Given the description of an element on the screen output the (x, y) to click on. 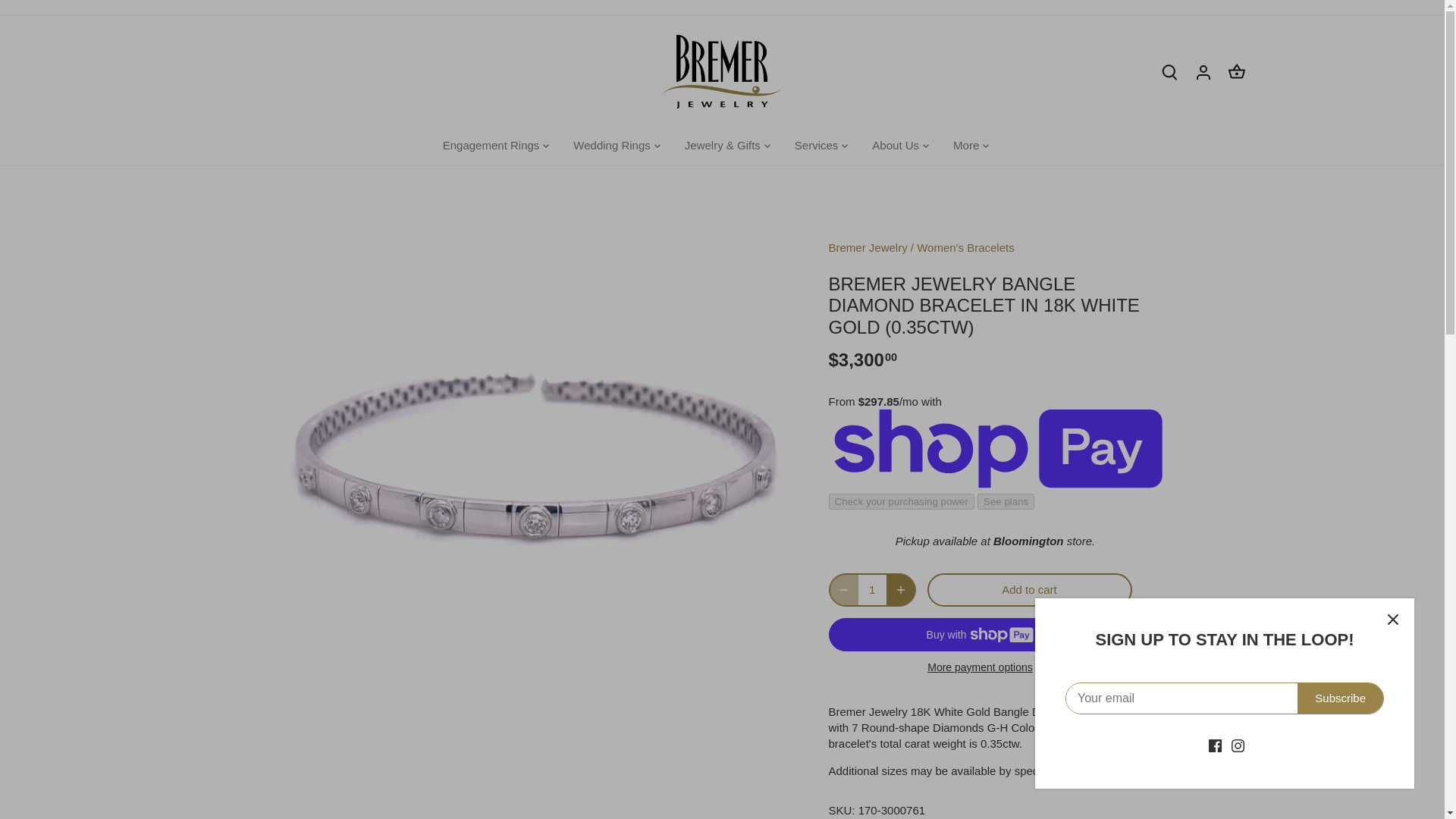
Engagement Rings (496, 146)
Wedding Rings (611, 146)
1 (872, 590)
